Given the description of an element on the screen output the (x, y) to click on. 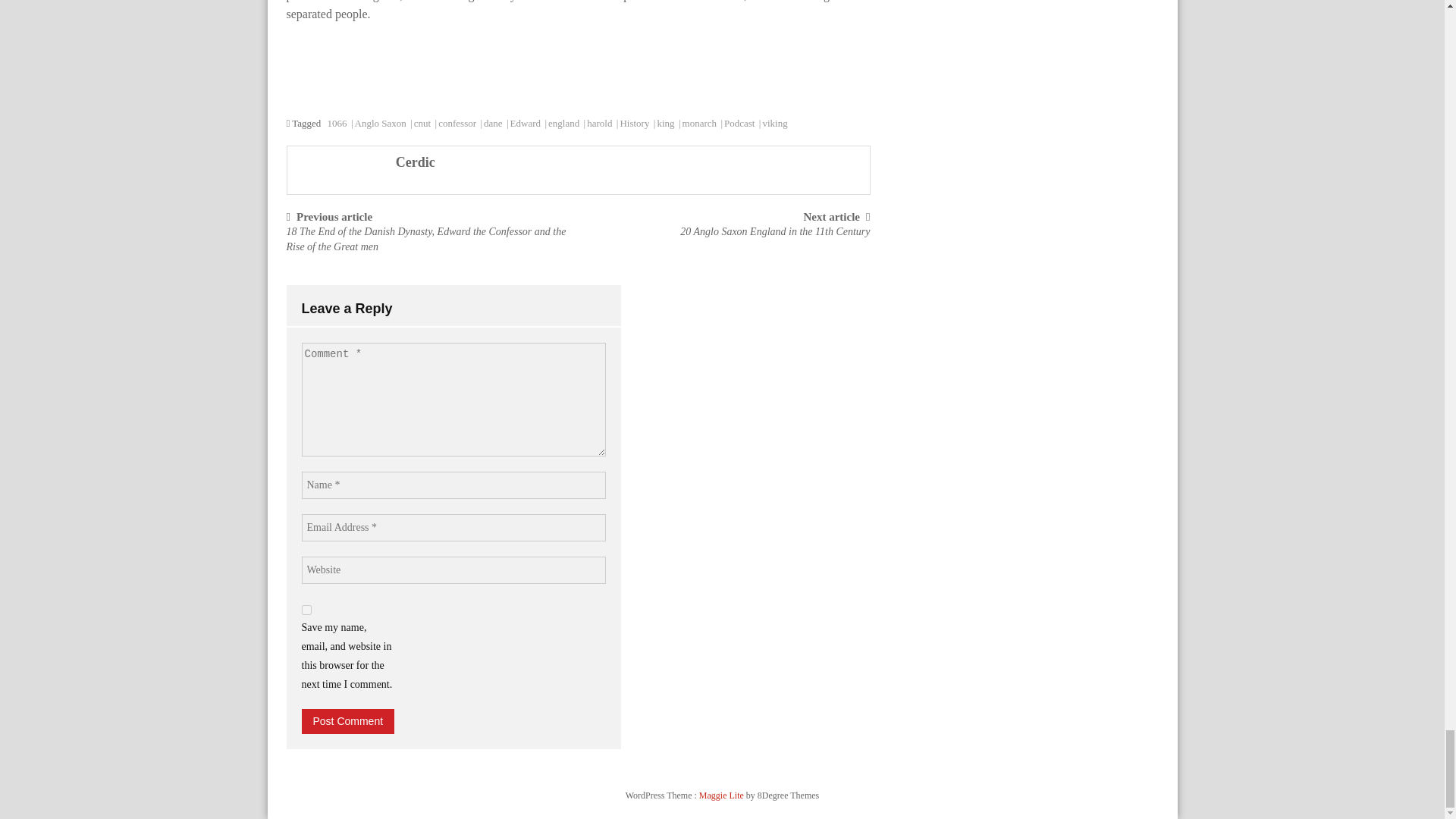
Post Comment (347, 721)
yes (306, 610)
Free WordPress Theme (721, 795)
